Given the description of an element on the screen output the (x, y) to click on. 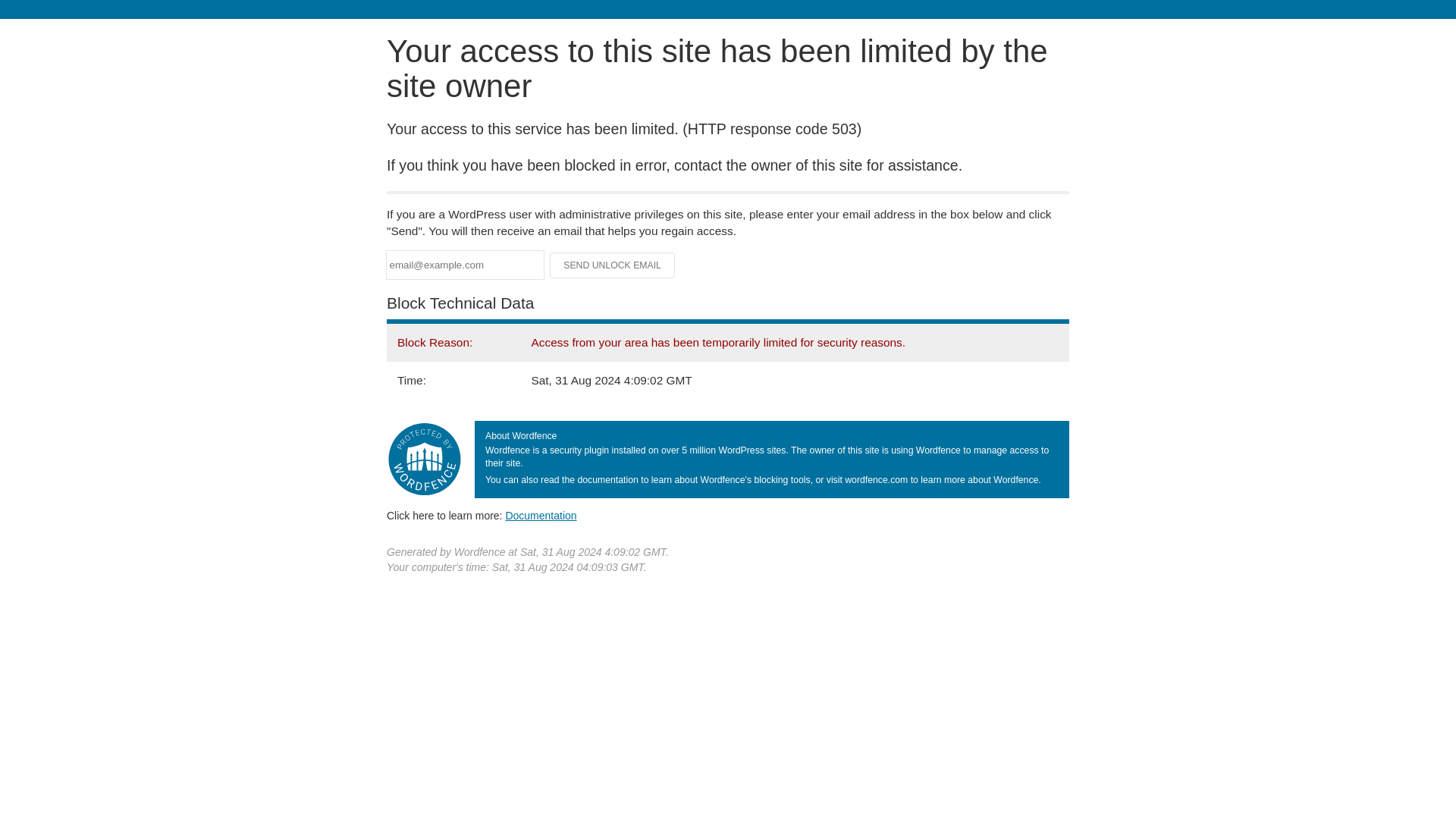
Send Unlock Email (612, 265)
Send Unlock Email (612, 265)
Documentation (540, 515)
